Given the description of an element on the screen output the (x, y) to click on. 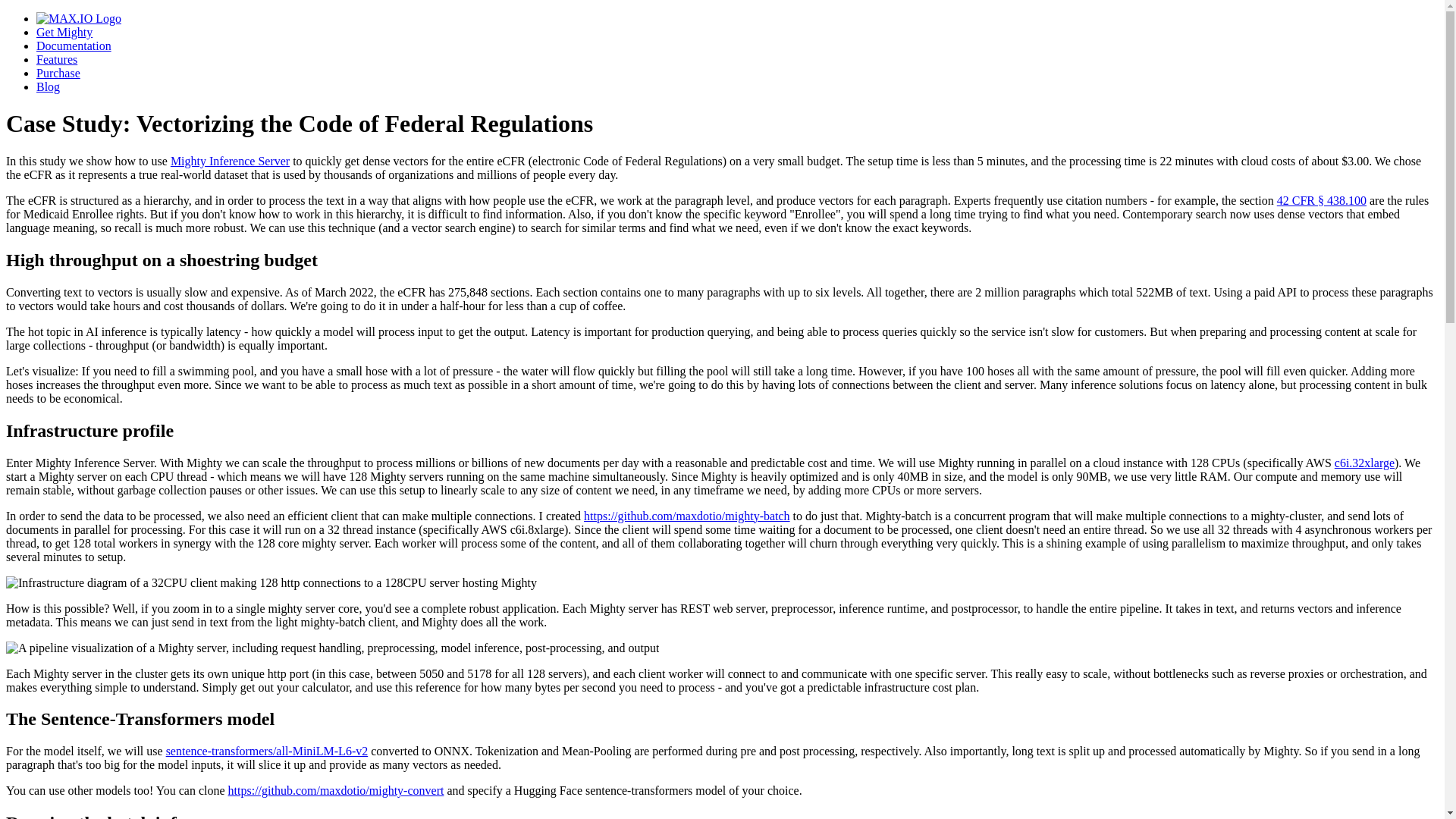
Features (56, 59)
Get Mighty (64, 31)
Purchase (58, 72)
Blog (47, 86)
Mighty Inference Server (229, 160)
c6i.32xlarge (1364, 462)
Documentation (74, 45)
